Given the description of an element on the screen output the (x, y) to click on. 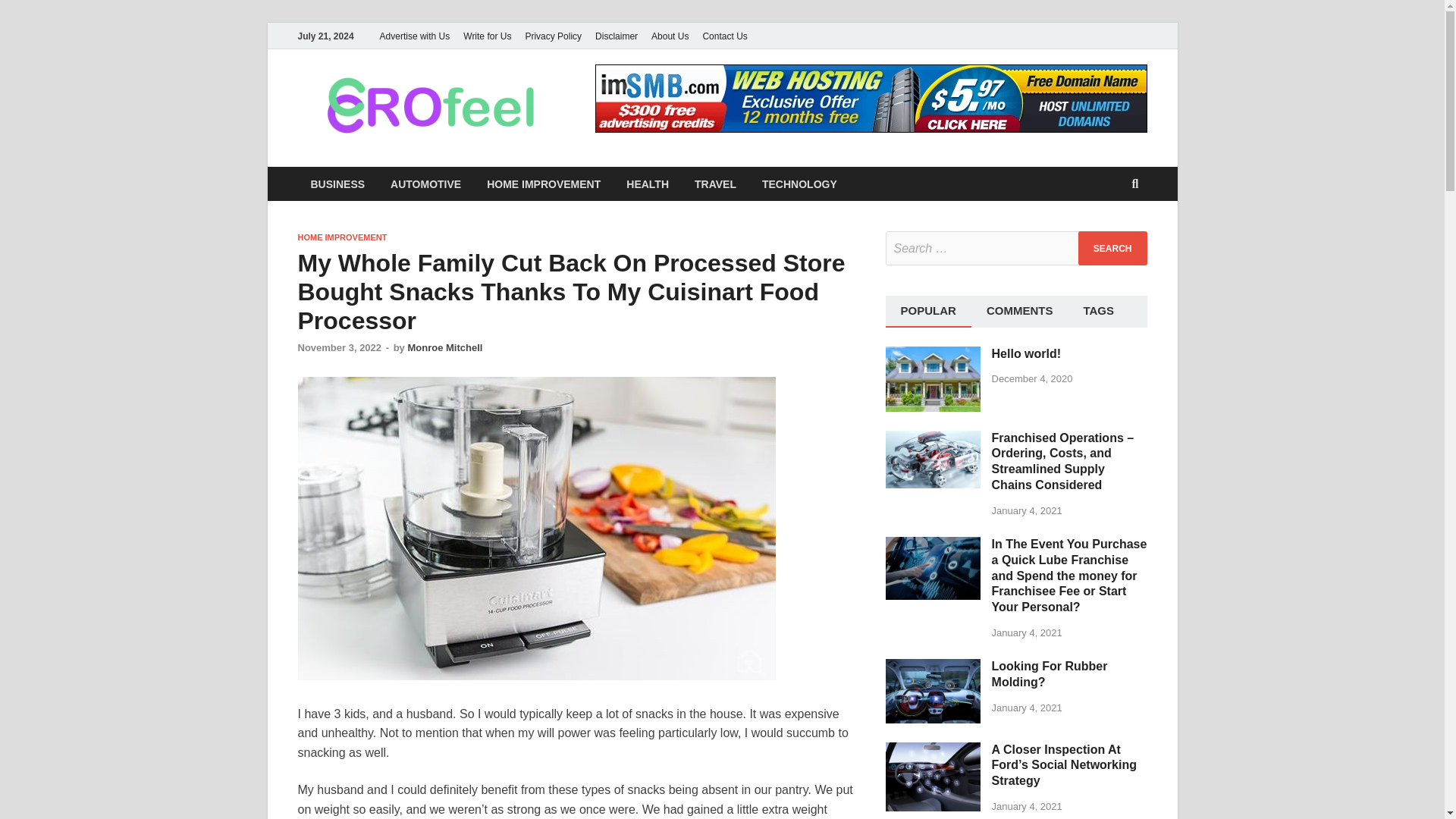
BUSINESS (337, 183)
Monroe Mitchell (444, 347)
Search (1112, 247)
AUTOMOTIVE (425, 183)
EroFeel (625, 100)
HOME IMPROVEMENT (543, 183)
TRAVEL (715, 183)
Write for Us (487, 35)
Privacy Policy (553, 35)
About Us (670, 35)
HOME IMPROVEMENT (342, 236)
Advertise with Us (414, 35)
Looking For Rubber Molding? (932, 667)
Contact Us (724, 35)
HEALTH (646, 183)
